Given the description of an element on the screen output the (x, y) to click on. 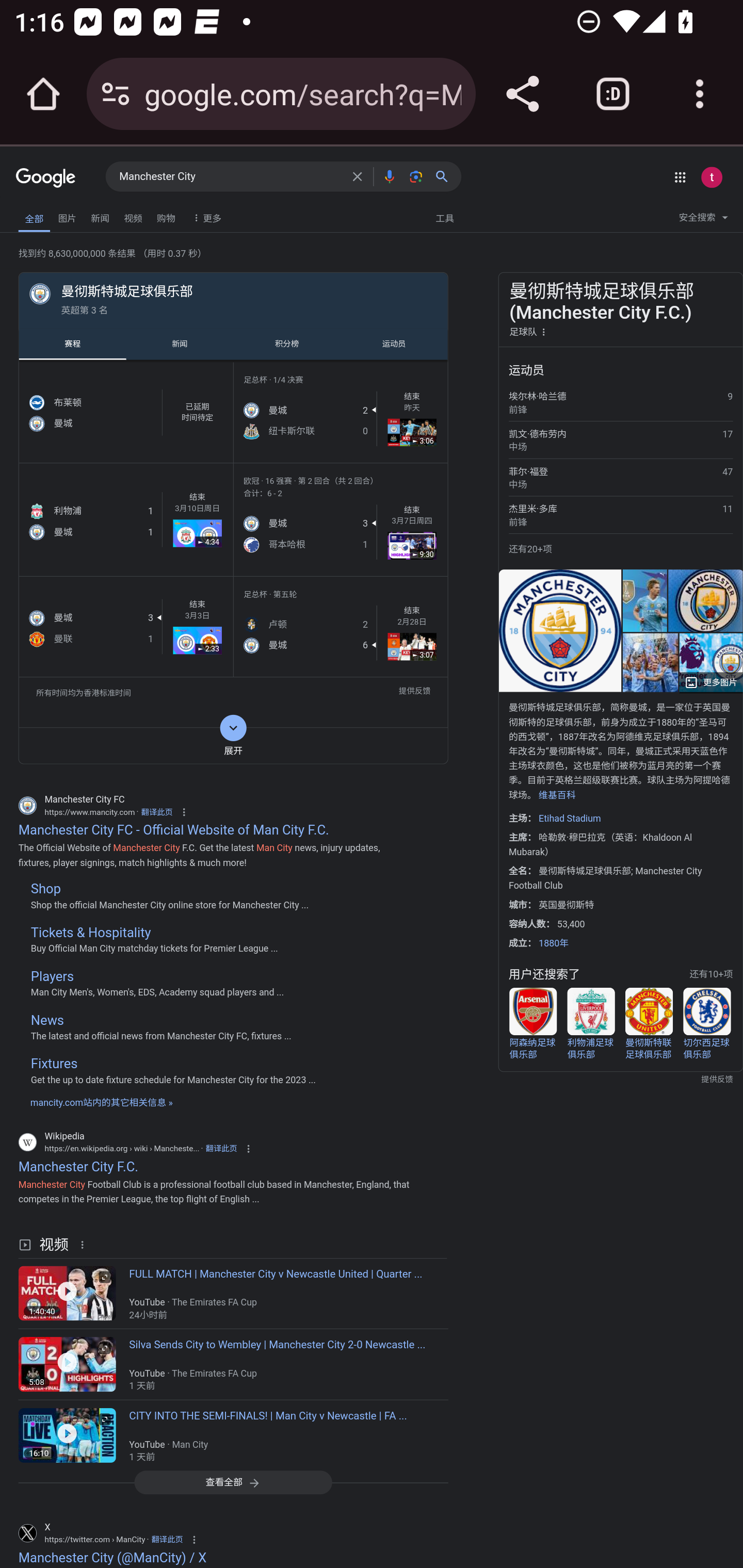
Open the home page (43, 93)
Connection is secure (115, 93)
Share (522, 93)
Switch or close tabs (612, 93)
Customize and control Google Chrome (699, 93)
清除 (357, 176)
按语音搜索 (388, 176)
按图搜索 (415, 176)
搜索 (445, 176)
Google 应用 (679, 176)
Google 账号： test appium (testappium002@gmail.com) (711, 176)
Google (45, 178)
Manchester City (229, 177)
无障碍功能反馈 (42, 212)
图片 (67, 216)
新闻 (99, 216)
视频 (133, 216)
购物 (166, 216)
更多 (205, 216)
安全搜索 (703, 219)
工具 (443, 216)
曼彻斯特城足球俱乐部 英超第 3 名 曼彻斯特城足球俱乐部 英超第 3 名 (232, 299)
赛程 (71, 343)
新闻 (179, 343)
积分榜 (286, 343)
运动员 (394, 343)
已延期 时间待定 布莱顿 曼城 已延期 时间待定 已延期 时间待定 布莱顿 布莱顿 曼城 曼城 (125, 412)
提供反馈 (413, 692)
展开 (232, 745)
翻译此页 (157, 811)
Shop (44, 888)
Tickets & Hospitality (89, 931)
Players (51, 976)
News (46, 1019)
Fixtures (53, 1063)
mancity.com站内的其它相关信息 » (101, 1102)
翻译此页 (221, 1149)
关于这条结果的详细信息 (85, 1244)
查看全部 (233, 1482)
翻译此页 (166, 1539)
